Given the description of an element on the screen output the (x, y) to click on. 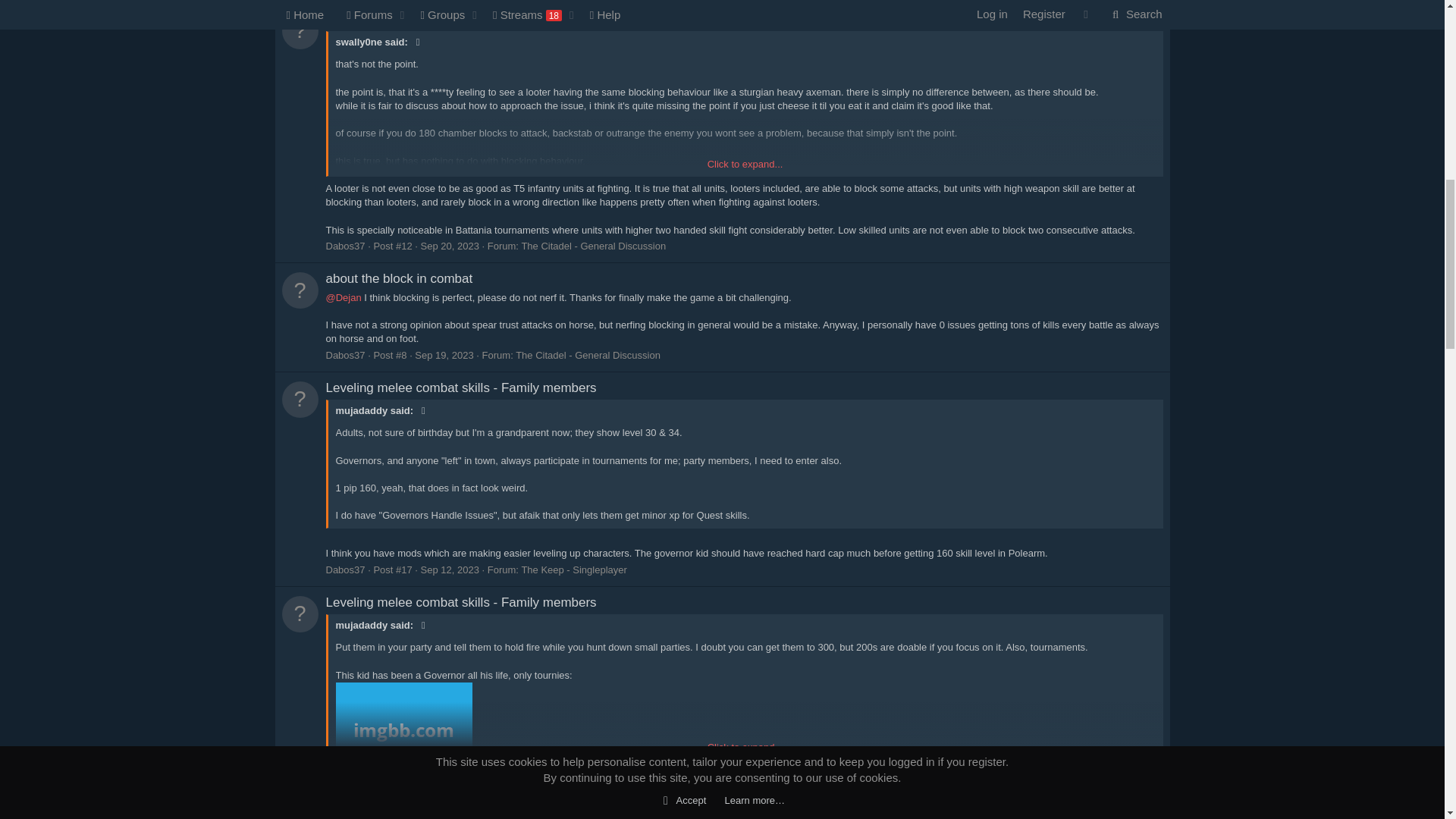
Governor-Melee-Skills.jpg (402, 750)
Sep 12, 2023 at 4:39 PM (449, 569)
Sep 20, 2023 at 12:26 PM (449, 245)
Sep 19, 2023 at 10:00 PM (443, 354)
